Given the description of an element on the screen output the (x, y) to click on. 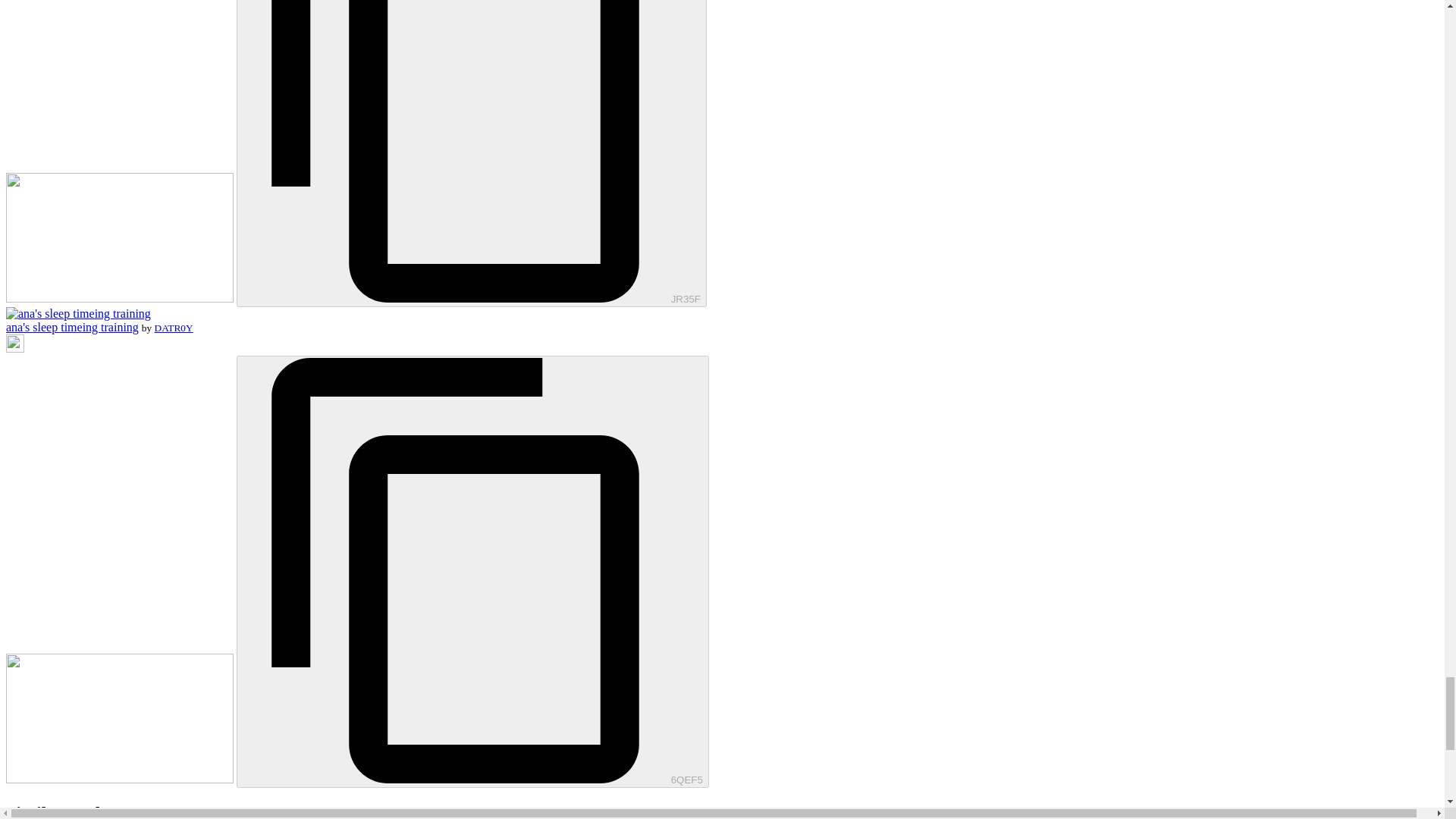
ana's sleep timeing training (78, 313)
ana's sleep timeing training (71, 327)
